Given the description of an element on the screen output the (x, y) to click on. 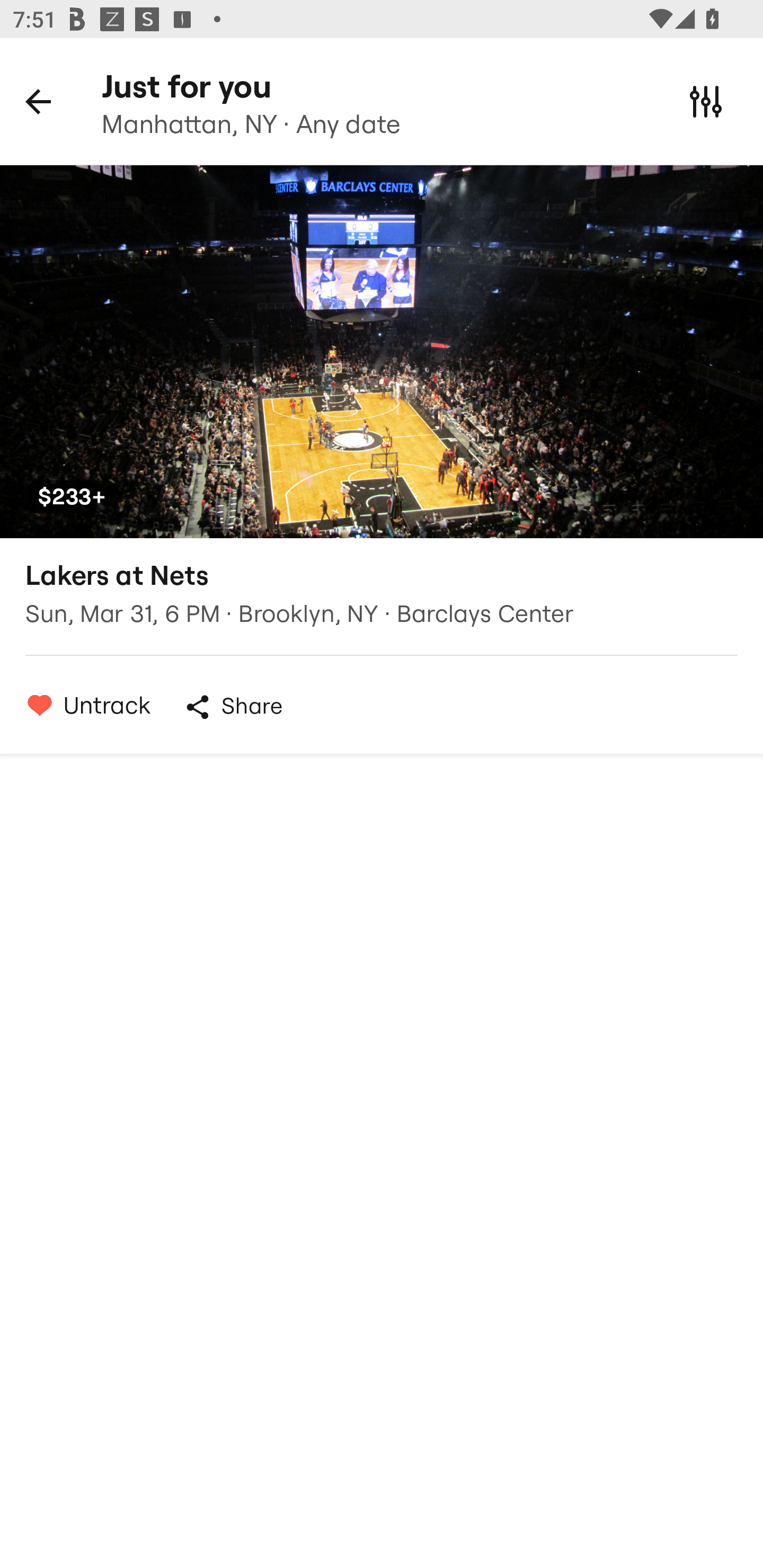
Back (38, 100)
Filters (705, 100)
Untrack (83, 704)
Share (233, 706)
